Given the description of an element on the screen output the (x, y) to click on. 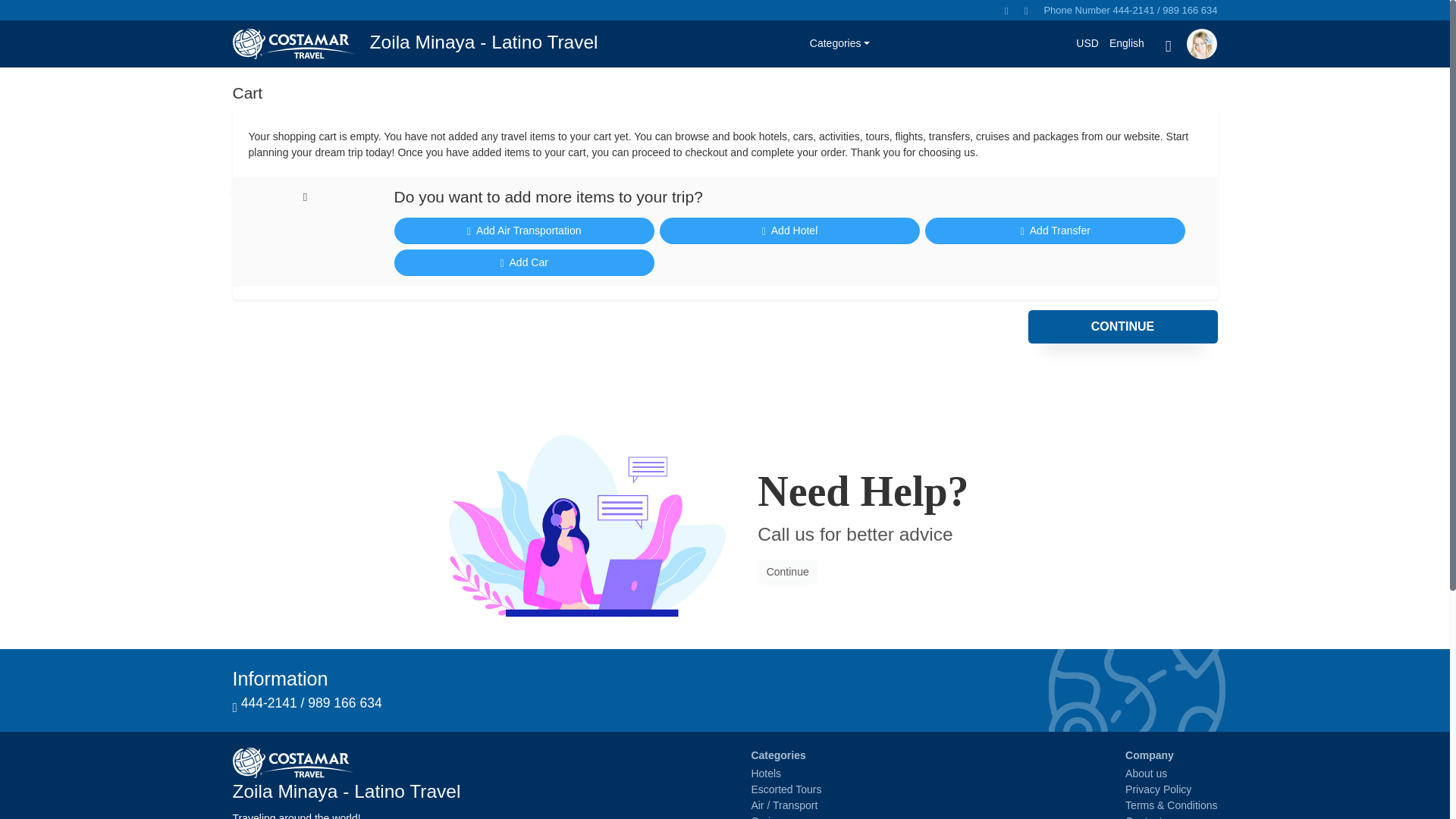
English (1126, 43)
Zoila Minaya - Latino Travel (413, 44)
Categories (839, 43)
USD (1086, 43)
